Given the description of an element on the screen output the (x, y) to click on. 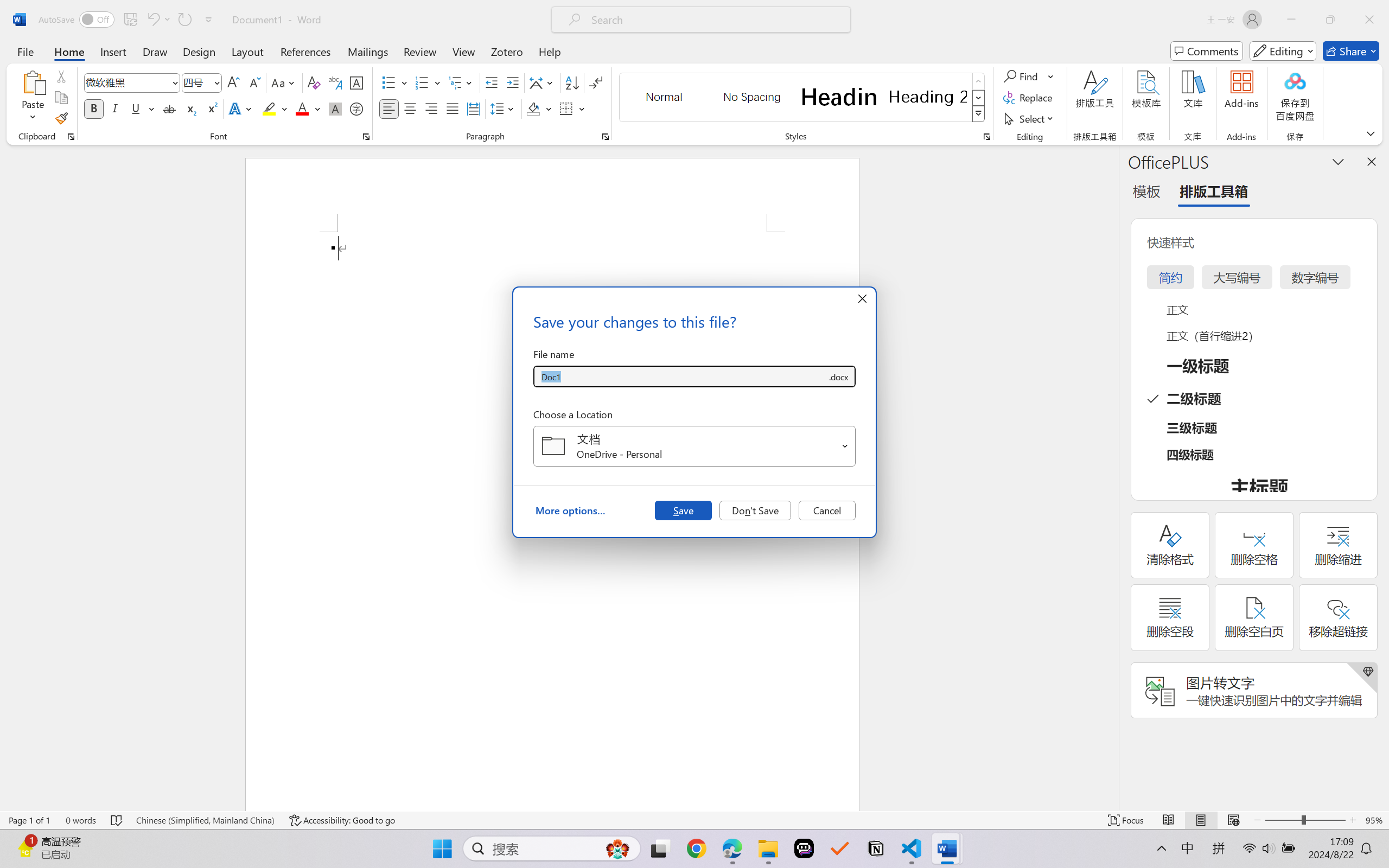
Microsoft search (715, 19)
Google Chrome (696, 848)
Zoom 95% (1374, 819)
